Given the description of an element on the screen output the (x, y) to click on. 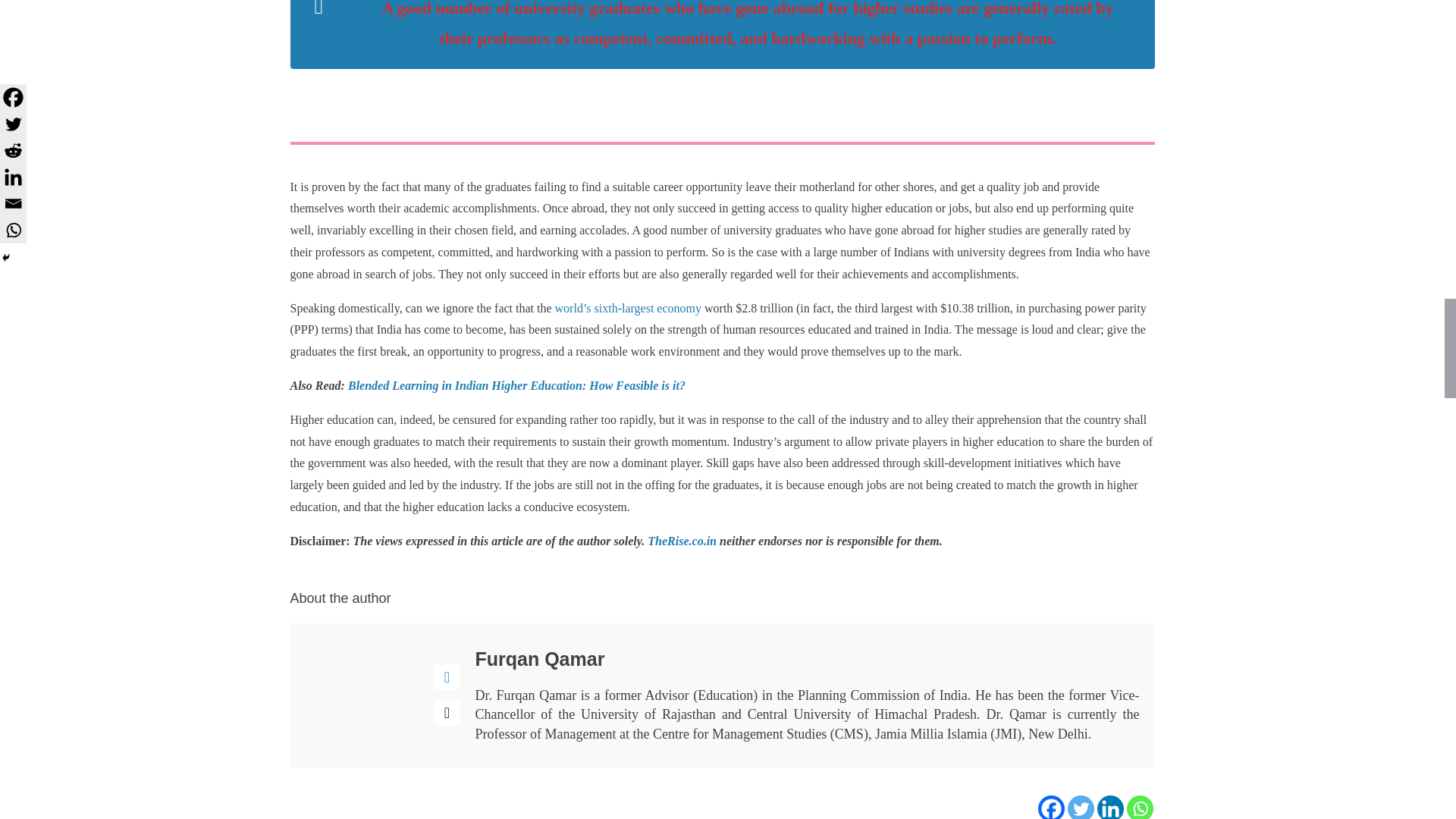
Facebook (1050, 807)
Twitter (1080, 807)
Linkedin (1109, 807)
